Given the description of an element on the screen output the (x, y) to click on. 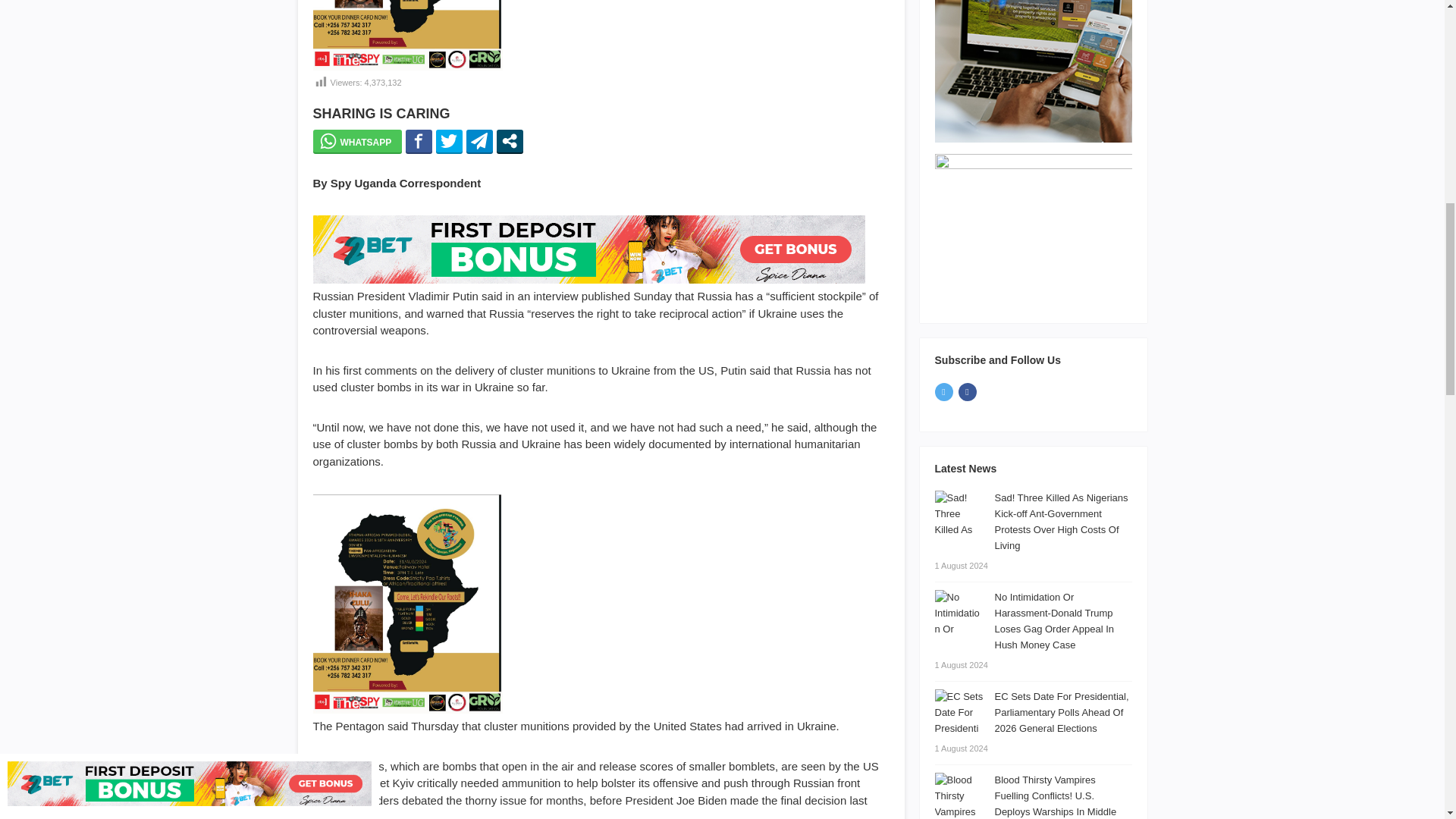
Share on WhatsApp (357, 140)
Open modal social networks (509, 140)
Tweet (449, 140)
Share on Facebook (419, 140)
Share on Telegram (479, 140)
